Given the description of an element on the screen output the (x, y) to click on. 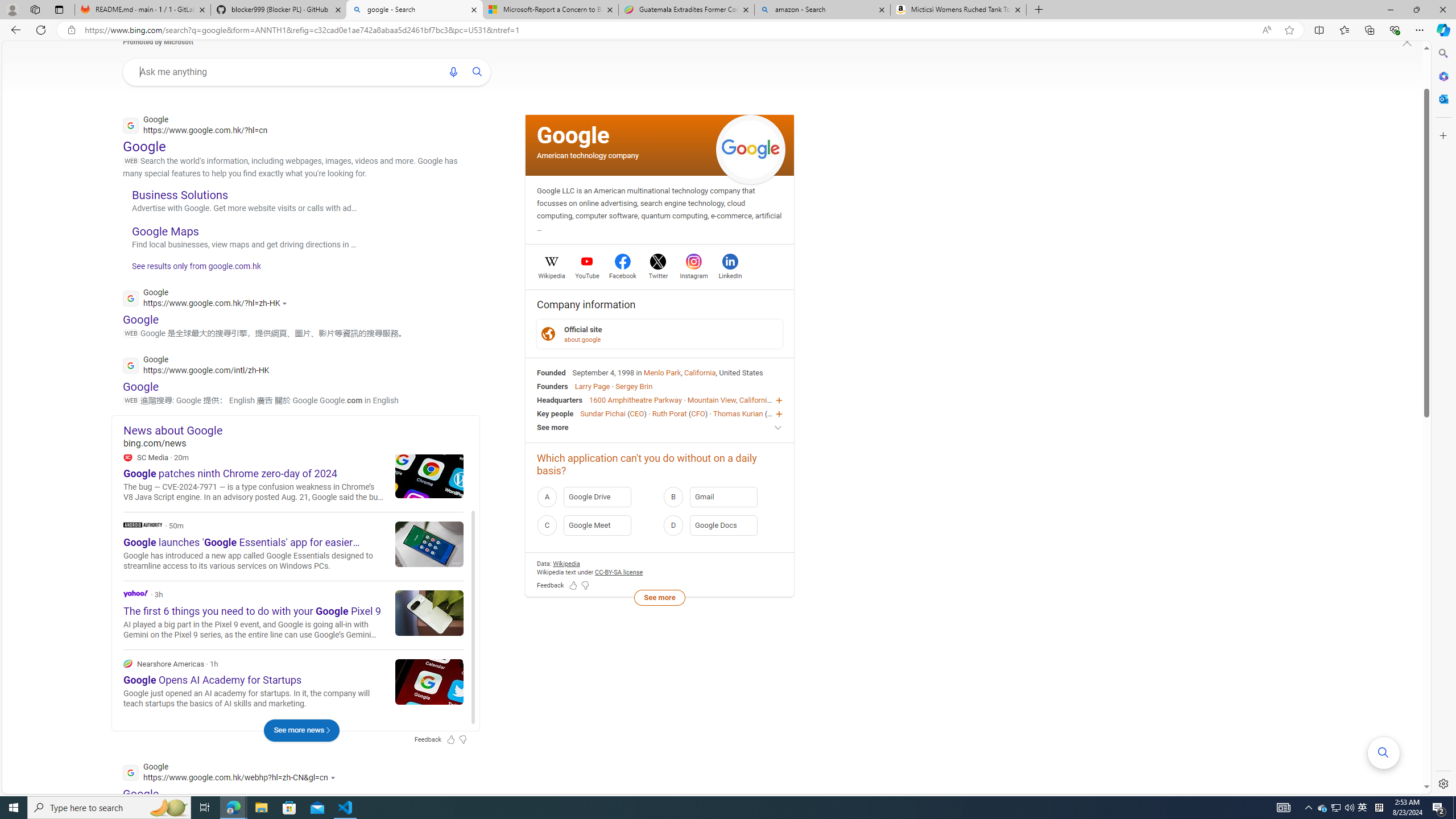
Ask me anything (285, 71)
Yahoo (135, 593)
Thomas Kurian (736, 412)
View site information (70, 29)
See more images of Google (751, 149)
Founded (551, 371)
Business Solutions (180, 194)
Ruth Porat (669, 412)
Add this page to favorites (Ctrl+D) (1289, 29)
Side bar (1443, 418)
Refresh (40, 29)
See results only from google.com.hk (191, 268)
